Given the description of an element on the screen output the (x, y) to click on. 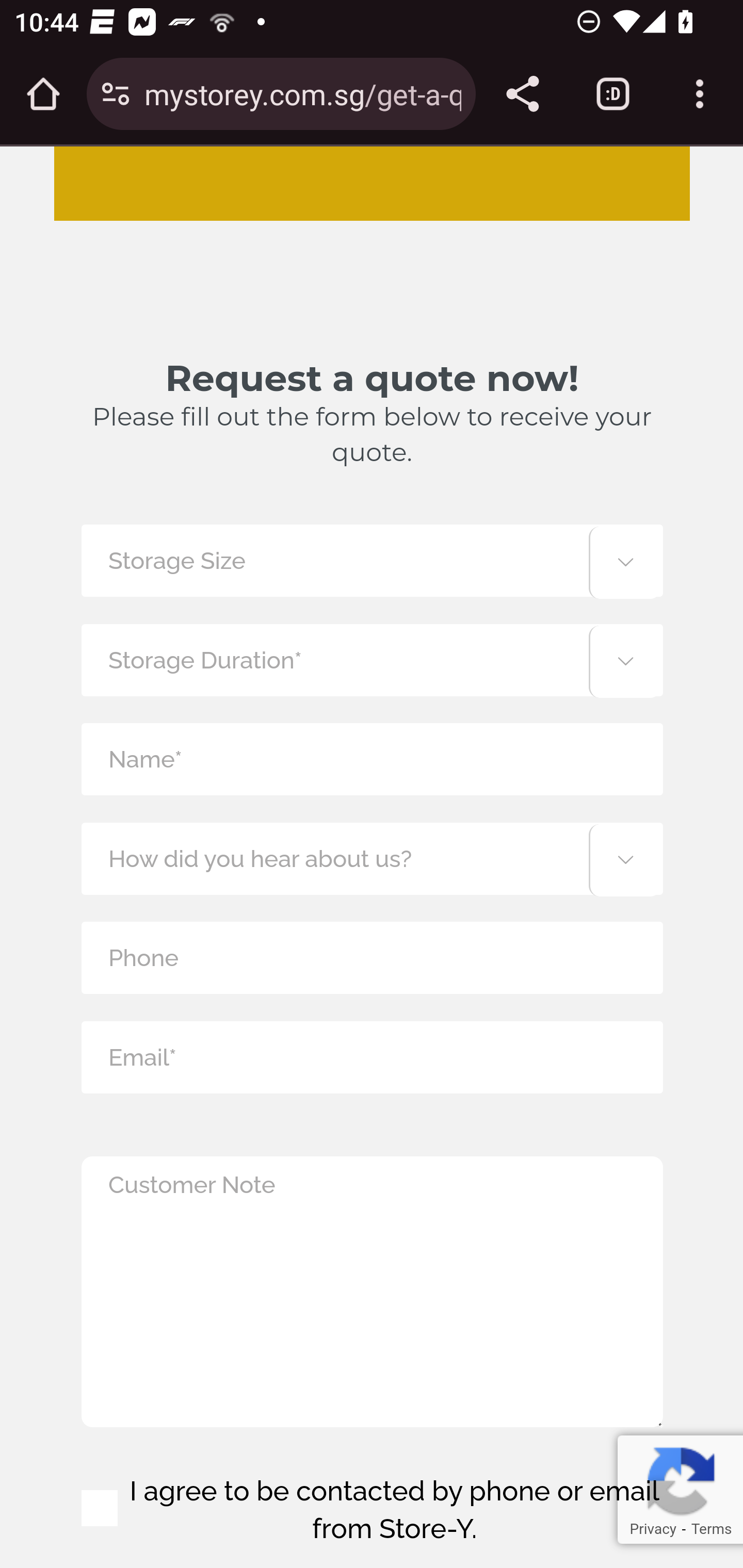
Open the home page (43, 93)
Connection is secure (115, 93)
Share (522, 93)
Switch or close tabs (612, 93)
Customize and control Google Chrome (699, 93)
mystorey.com.sg/get-a-quote/ (302, 92)
Storage Size (371, 560)
Storage Duration* (371, 659)
How did you hear about us? (371, 858)
Privacy (652, 1528)
Terms (711, 1528)
